Given the description of an element on the screen output the (x, y) to click on. 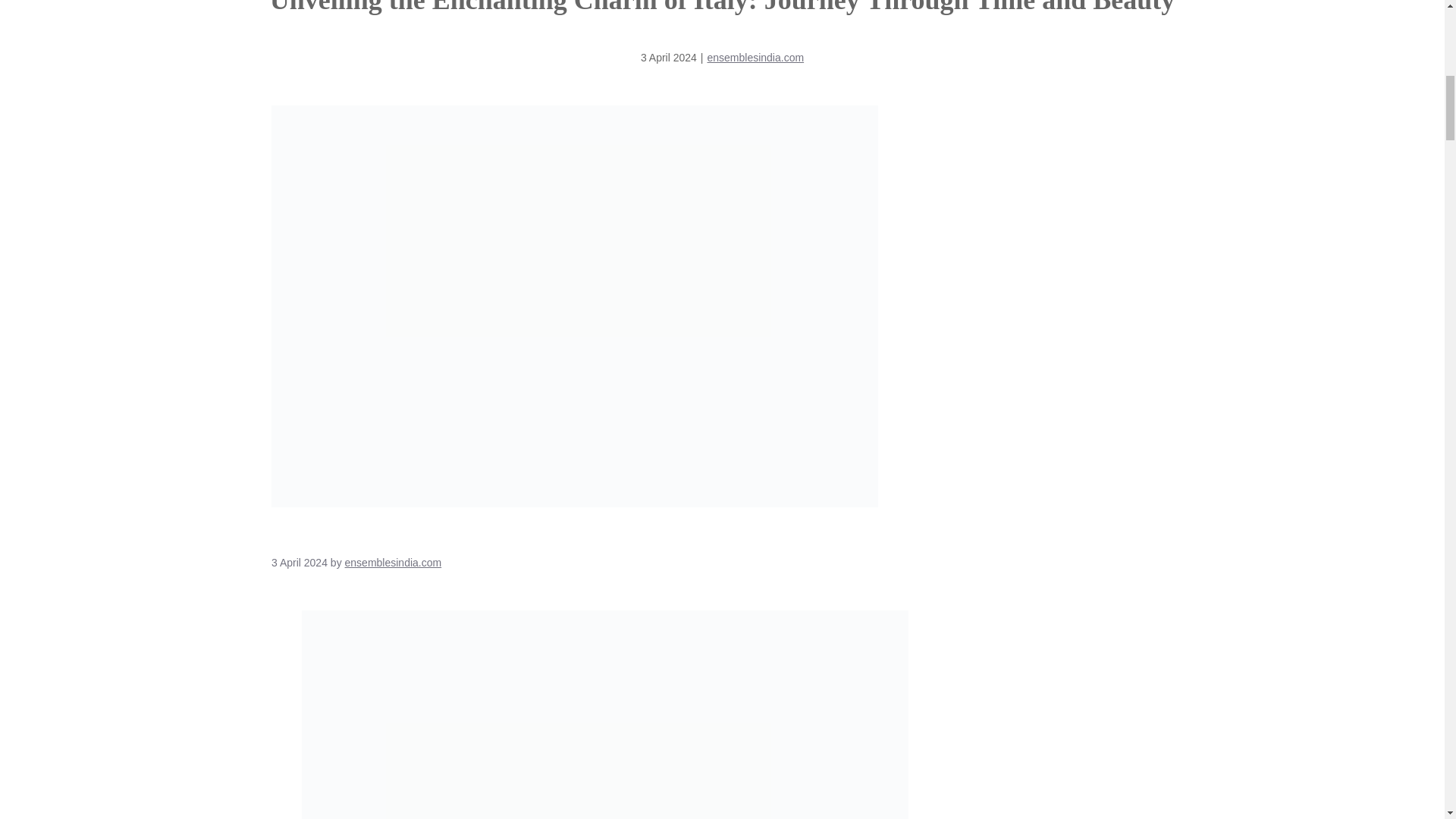
ensemblesindia.com (393, 562)
Scroll back to top (1406, 720)
View all posts by ensemblesindia.com (393, 562)
ensemblesindia.com (754, 57)
